Given the description of an element on the screen output the (x, y) to click on. 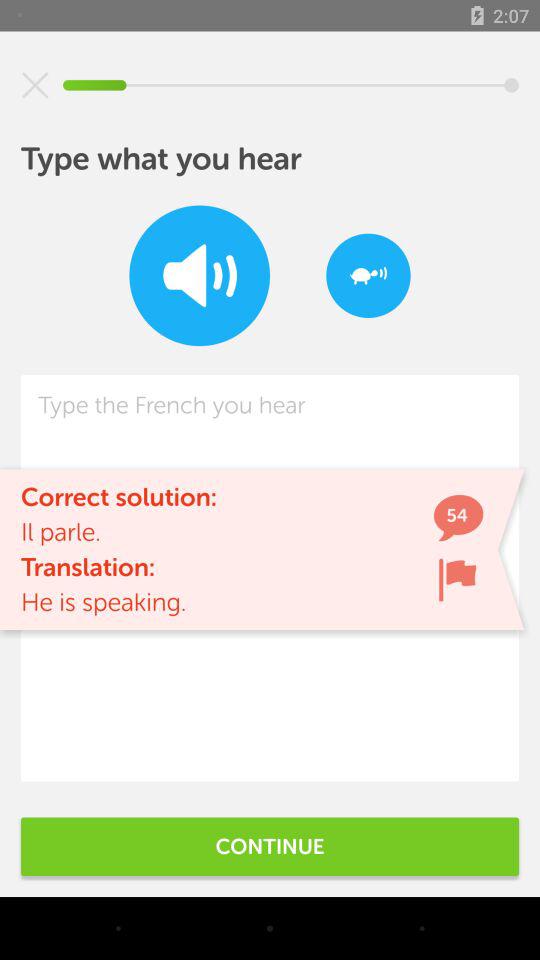
tap the icon to the right of the he is speaking. icon (457, 579)
